Given the description of an element on the screen output the (x, y) to click on. 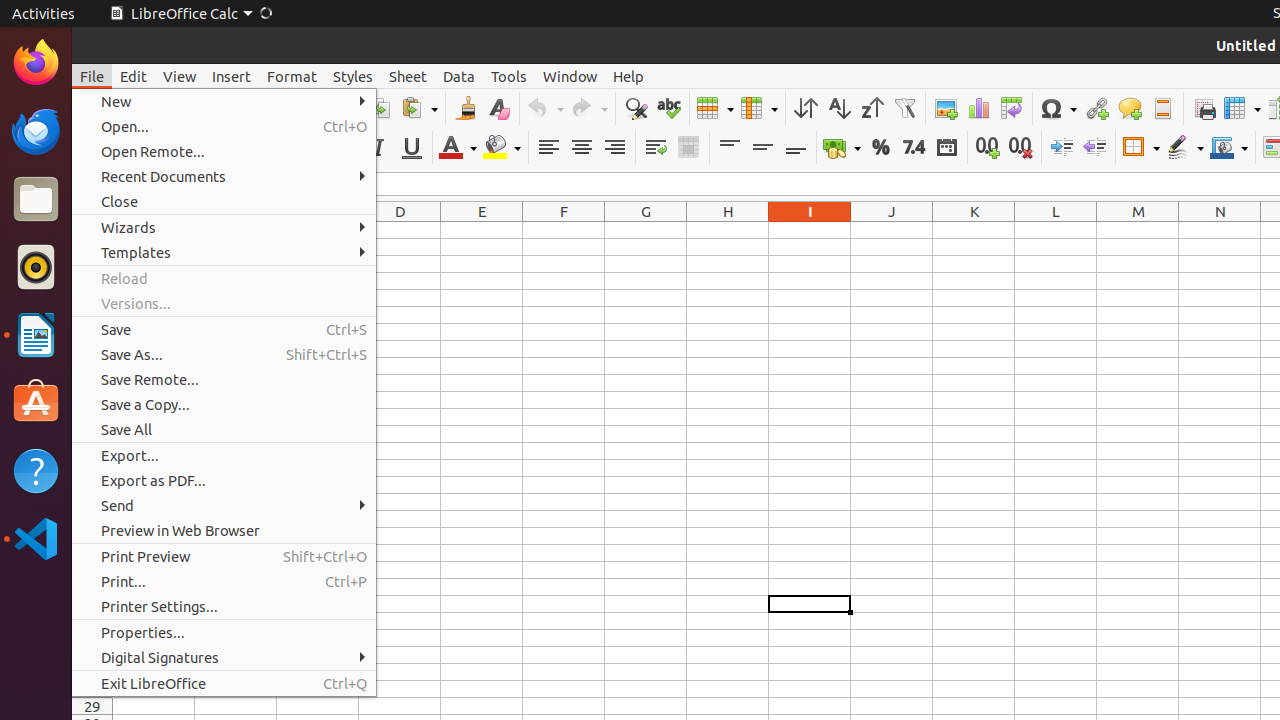
Chart Element type: push-button (978, 108)
Styles Element type: menu (353, 76)
I1 Element type: table-cell (810, 230)
Print Area Element type: push-button (1203, 108)
Pivot Table Element type: push-button (1011, 108)
